Given the description of an element on the screen output the (x, y) to click on. 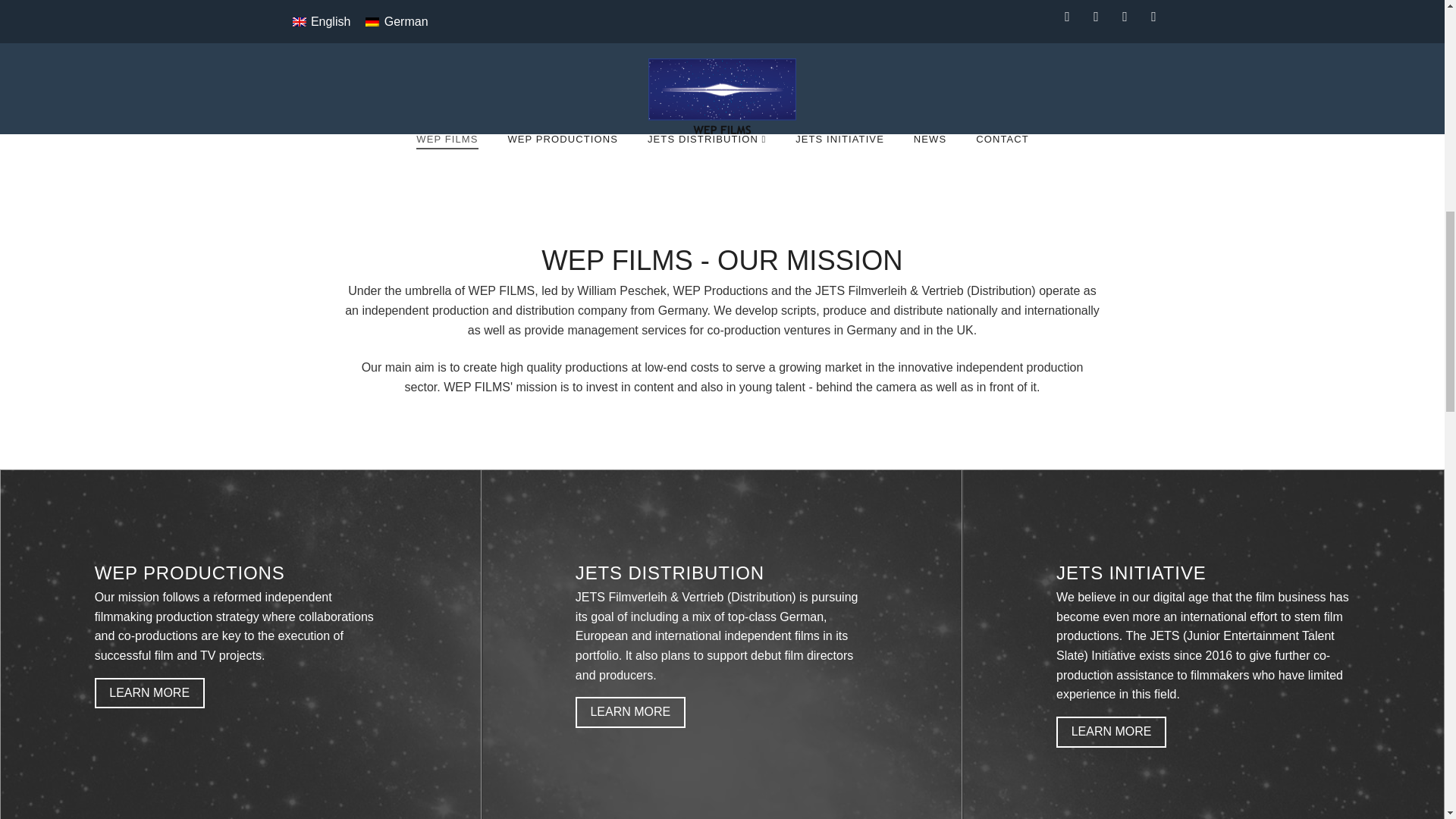
Twitter (1096, 16)
JETS DISTRIBUTION (705, 168)
LEARN MORE (630, 712)
WEP PRODUCTIONS (561, 168)
WEP FILMS (446, 168)
YouTube (1125, 16)
LEARN MORE (149, 693)
NEWS (929, 168)
CONTACT (1001, 168)
German (396, 21)
Instagram (1153, 16)
Facebook (1067, 16)
JETS INITIATIVE (839, 168)
English (321, 21)
LEARN MORE (1111, 731)
